Given the description of an element on the screen output the (x, y) to click on. 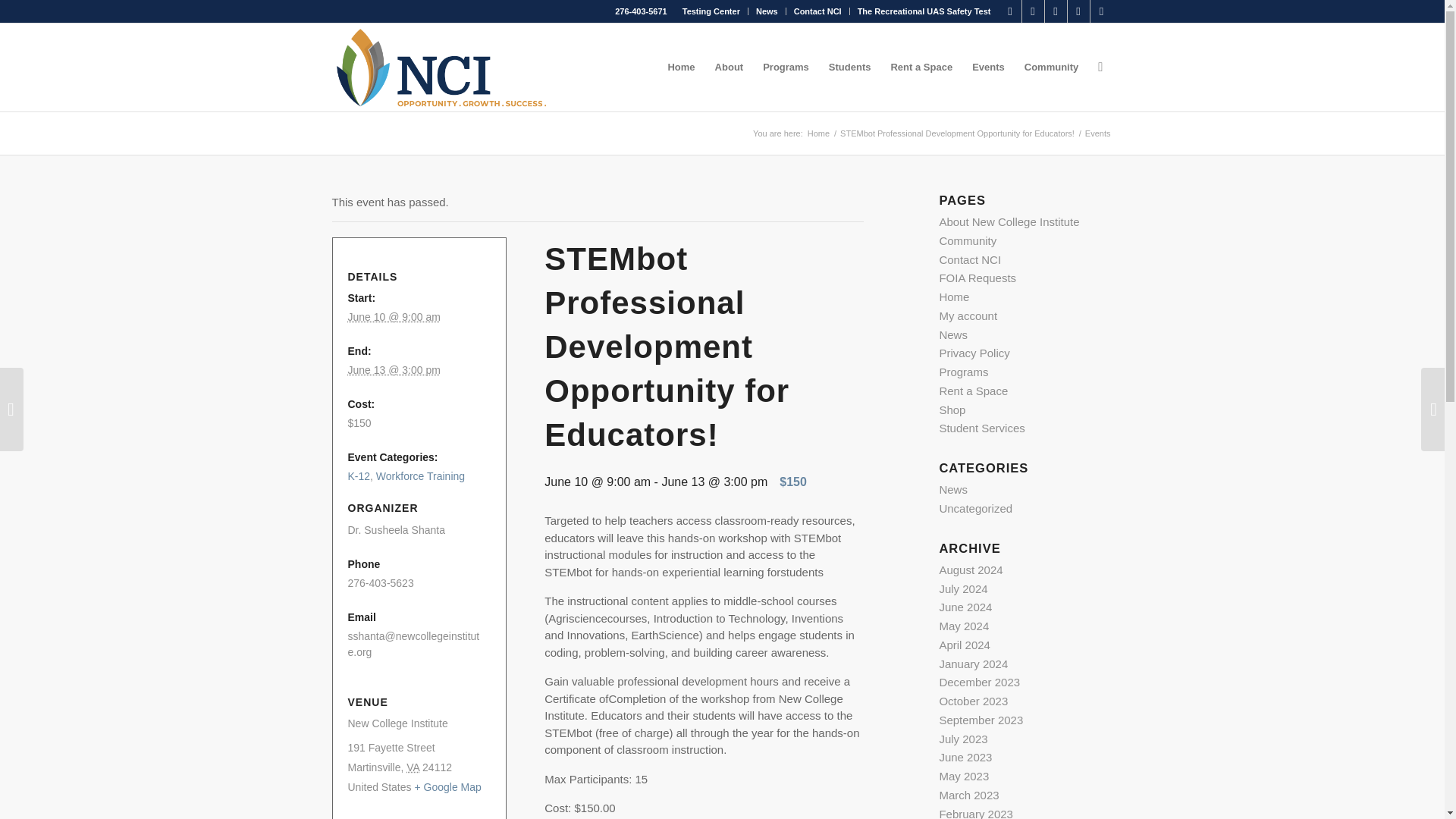
Events (1098, 133)
The Recreational UAS Safety Test (924, 11)
X (1032, 11)
Youtube (1101, 11)
News (766, 11)
Rent a Space (921, 67)
Contact NCI (817, 11)
Testing Center (710, 11)
Facebook (1010, 11)
LinkedIn (1056, 11)
